Given the description of an element on the screen output the (x, y) to click on. 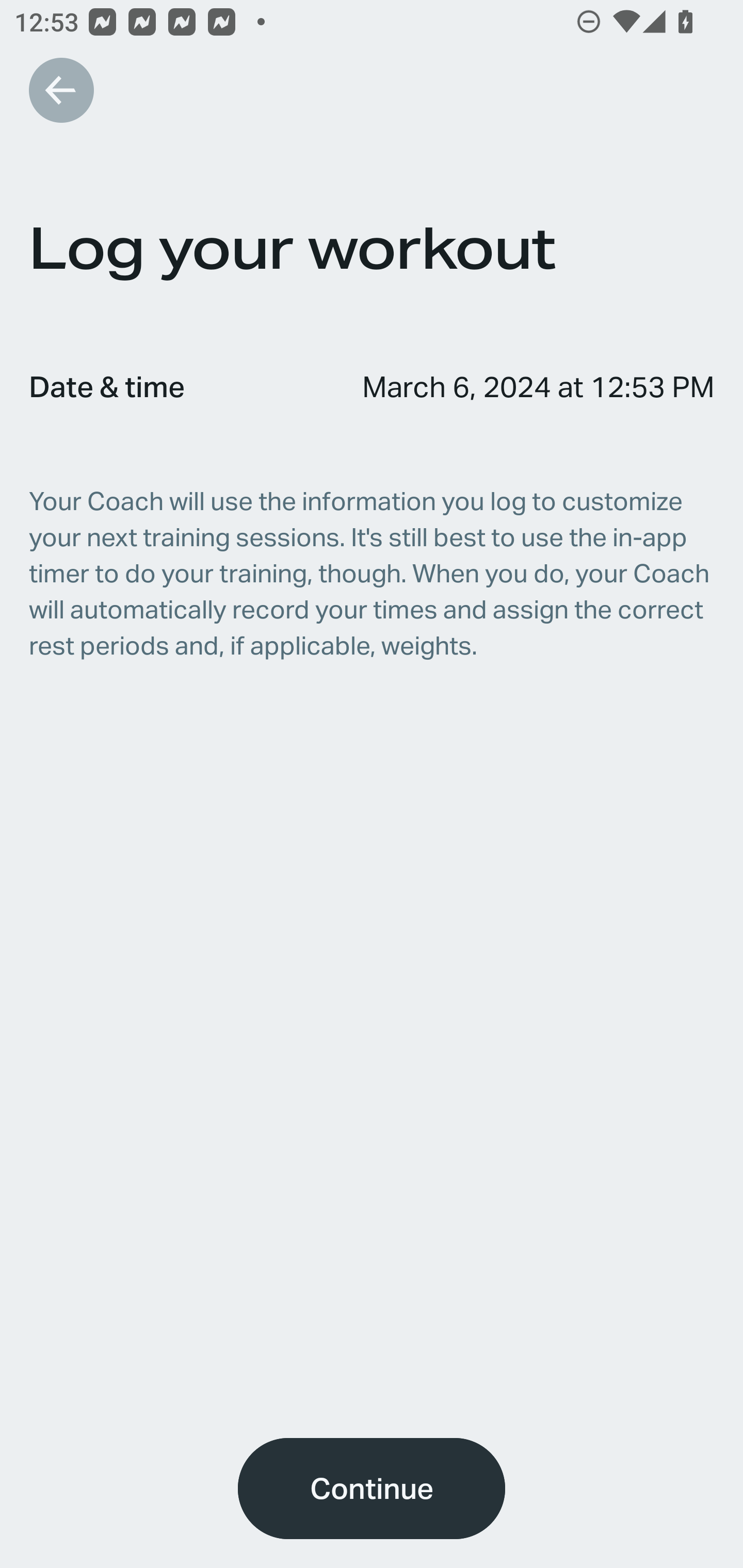
Go back (60, 90)
Date & time March 6, 2024 at 12:53 PM (371, 385)
Continue (371, 1488)
